Given the description of an element on the screen output the (x, y) to click on. 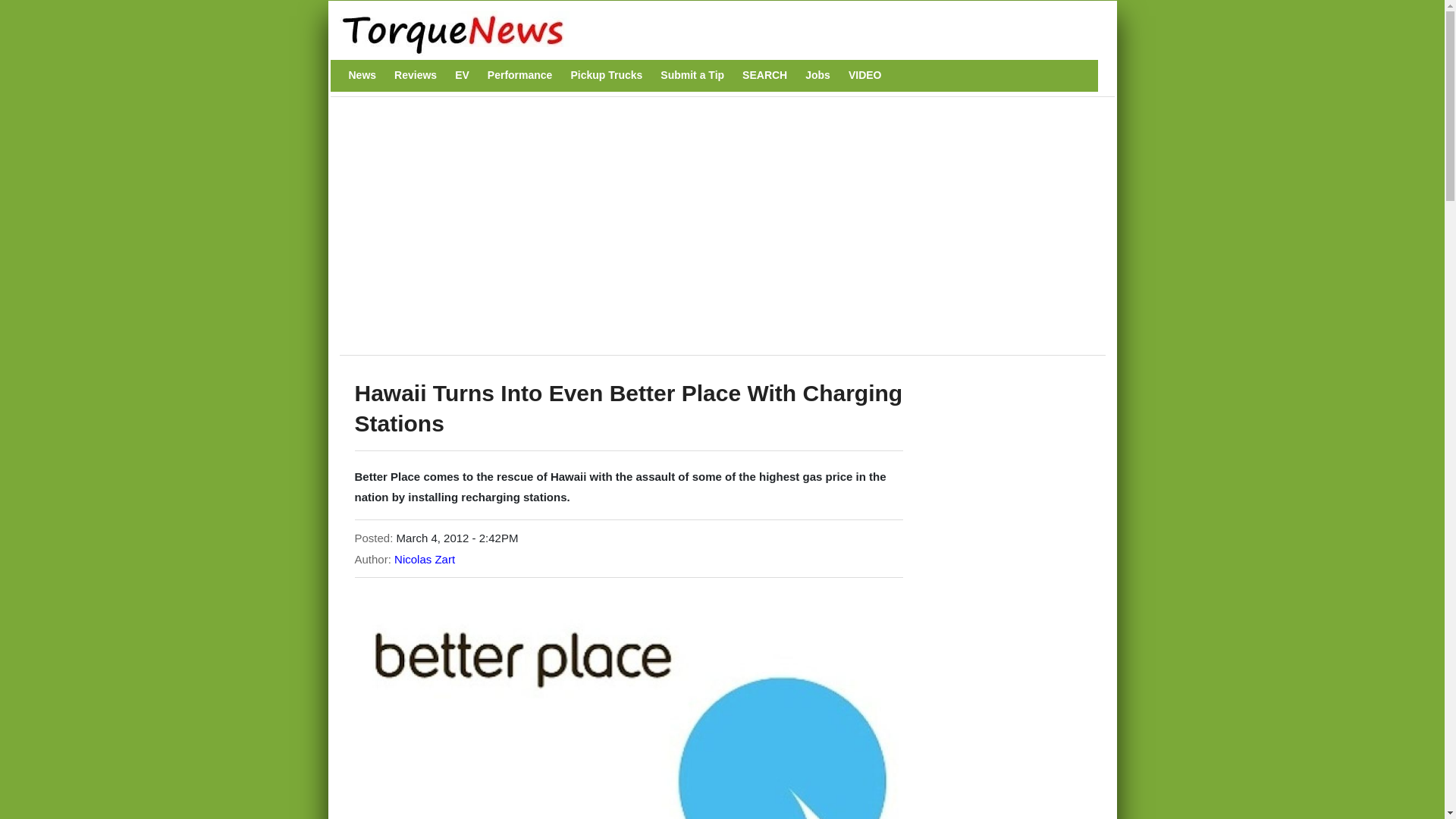
VIDEO (865, 75)
Jobs (817, 75)
Submit a Tip (691, 75)
News (362, 75)
Nicolas Zart (424, 558)
Automotive journalism jobs and careers are TorqueNews.com. (817, 75)
Advertisement (624, 233)
View user profile. (424, 558)
Home (713, 32)
News (362, 75)
SEARCH (764, 75)
Reviews (415, 75)
Performance (520, 75)
Pickup Trucks (605, 75)
